Given the description of an element on the screen output the (x, y) to click on. 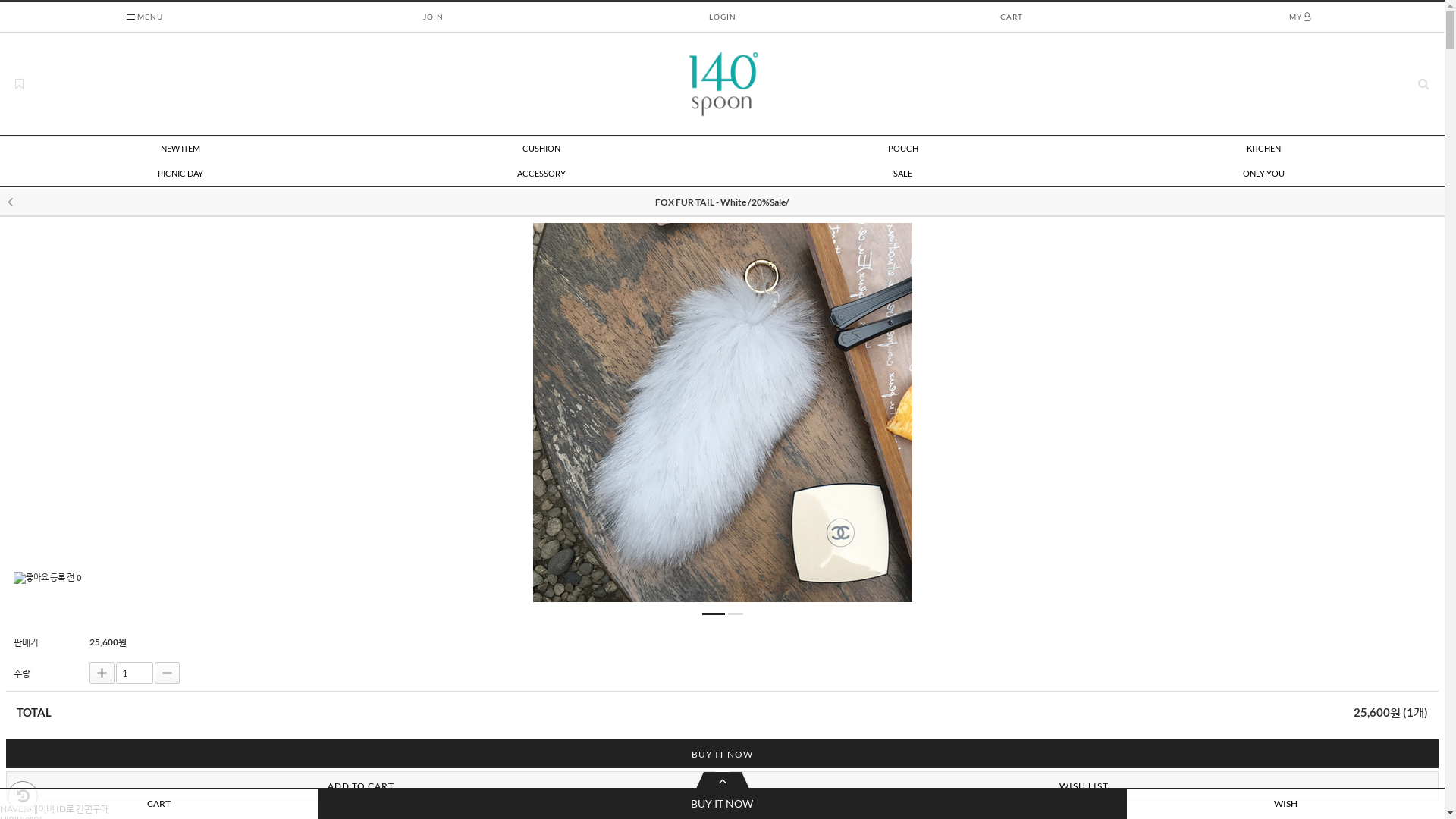
ONLY YOU Element type: text (1263, 172)
PICNIC DAY Element type: text (180, 172)
KITCHEN Element type: text (1263, 148)
SALE Element type: text (902, 172)
CUSHION Element type: text (541, 148)
ADD TO CART Element type: text (360, 785)
BUY IT NOW Element type: text (722, 753)
WISH LIST Element type: text (1083, 785)
JOIN Element type: text (432, 16)
0 Element type: text (47, 577)
ACCESSORY Element type: text (541, 172)
NEW ITEM Element type: text (180, 148)
LOGIN Element type: text (721, 16)
CART Element type: text (1010, 16)
POUCH Element type: text (903, 148)
